Given the description of an element on the screen output the (x, y) to click on. 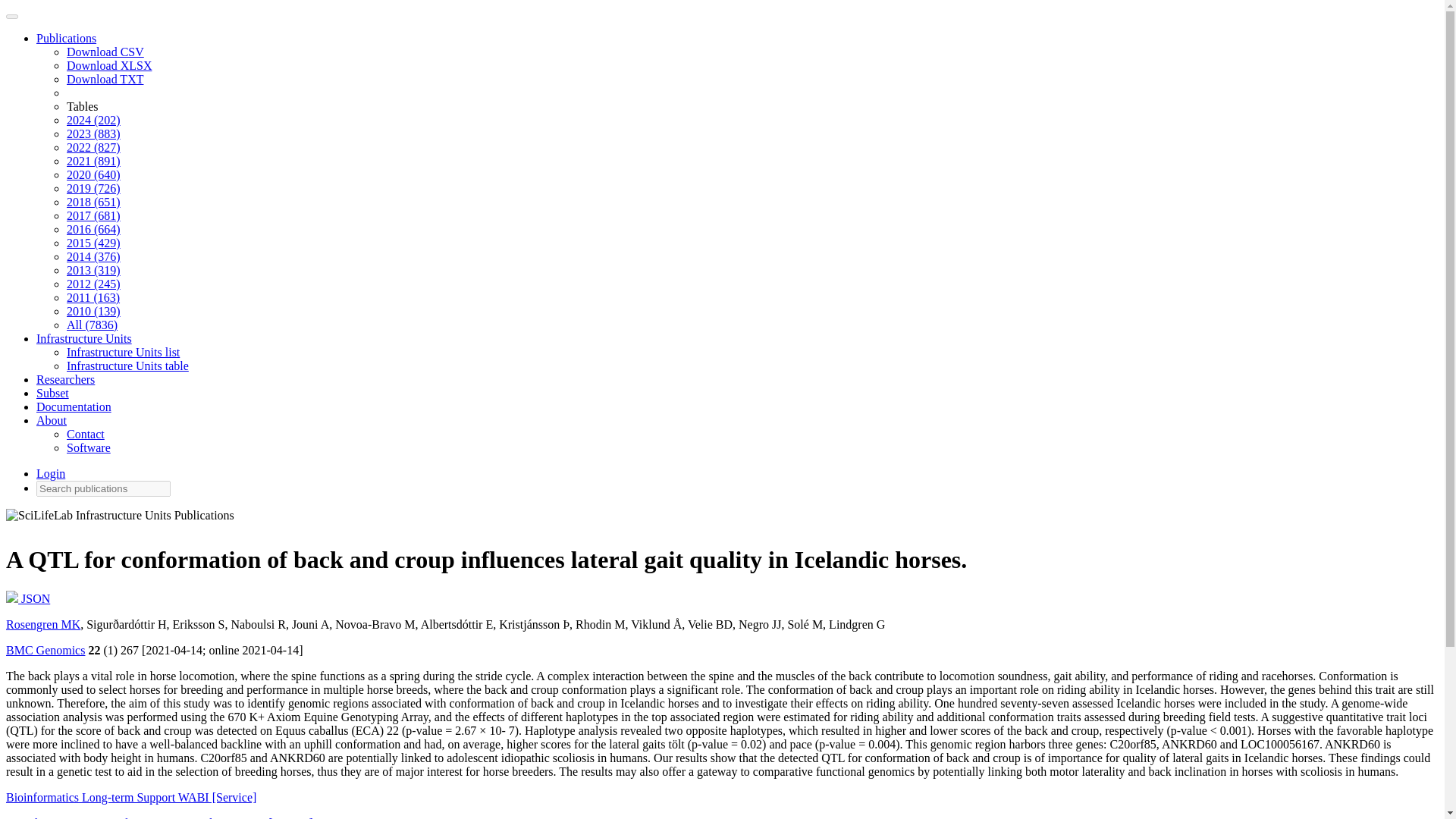
Infrastructure Units table (127, 365)
Contact (85, 433)
Software (88, 447)
SciLifeLab Infrastructure Units Publications (119, 518)
Documentation (74, 406)
Login (50, 472)
Rosengren MK (42, 624)
Publications (66, 38)
Infrastructure Units (84, 338)
Download XLSX (108, 65)
